Given the description of an element on the screen output the (x, y) to click on. 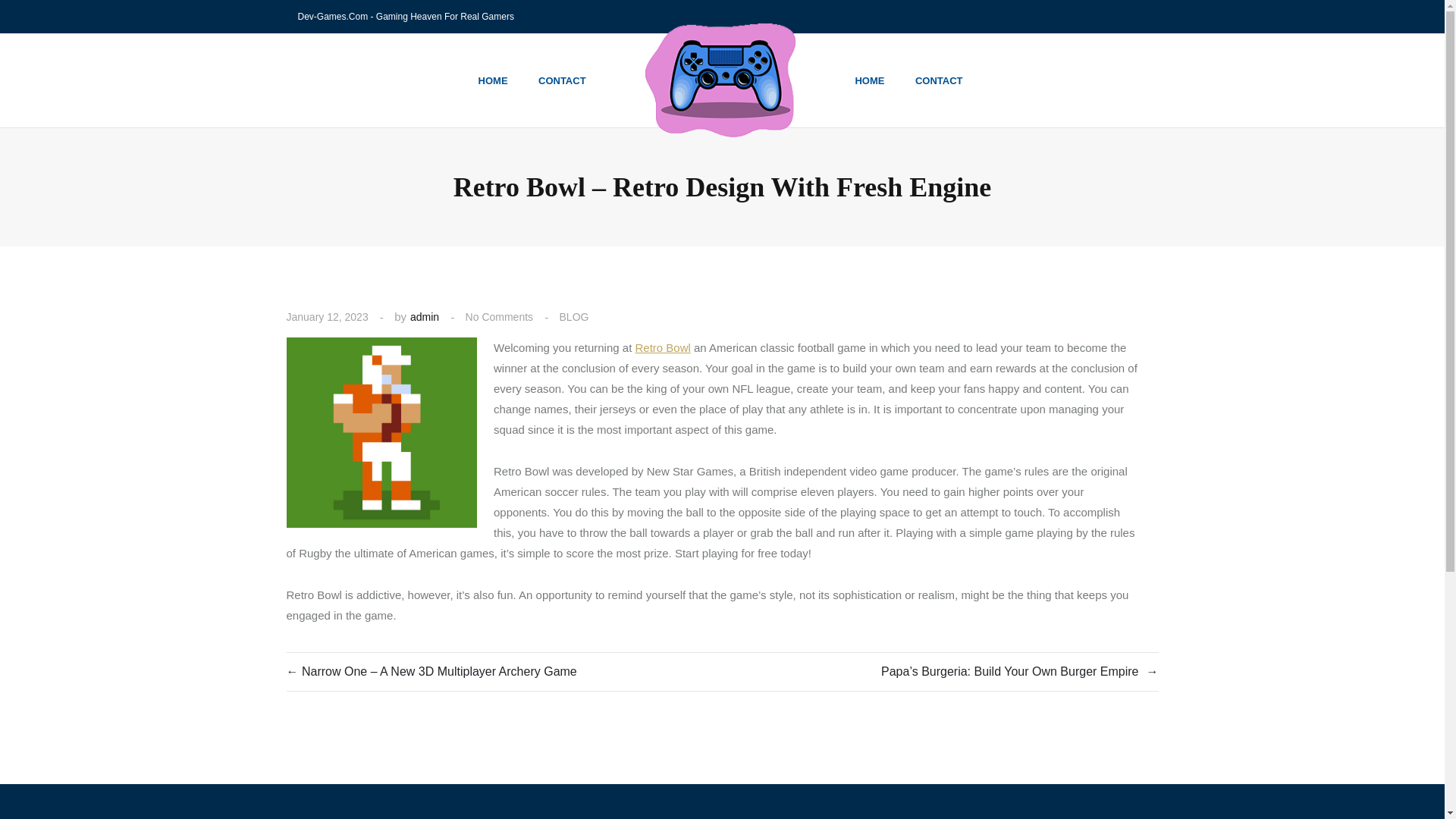
CONTACT (561, 80)
January 12, 2023 (327, 316)
HOME (492, 80)
Number of comments (498, 316)
Retro Bowl (662, 347)
No Comments (498, 316)
Post Author (424, 316)
CONTACT (938, 80)
HOME (869, 80)
Post Date (327, 316)
admin (424, 316)
BLOG (574, 316)
